Given the description of an element on the screen output the (x, y) to click on. 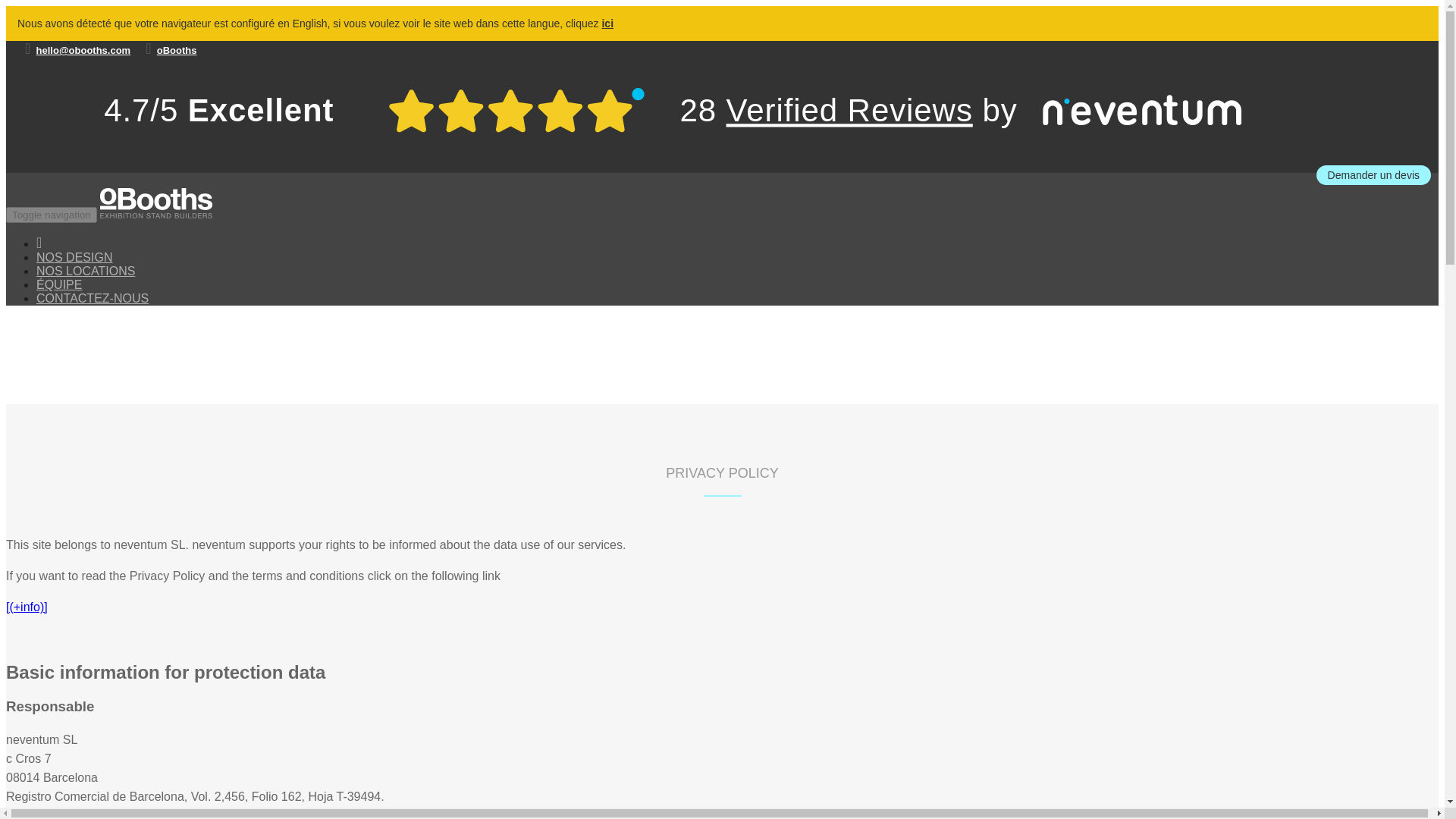
Demander un devis (1373, 175)
ici (606, 23)
oBooths (176, 50)
NOS DESIGN (74, 264)
CONTACTEZ-NOUS (92, 305)
NOS LOCATIONS (85, 278)
Toggle navigation (51, 214)
